Given the description of an element on the screen output the (x, y) to click on. 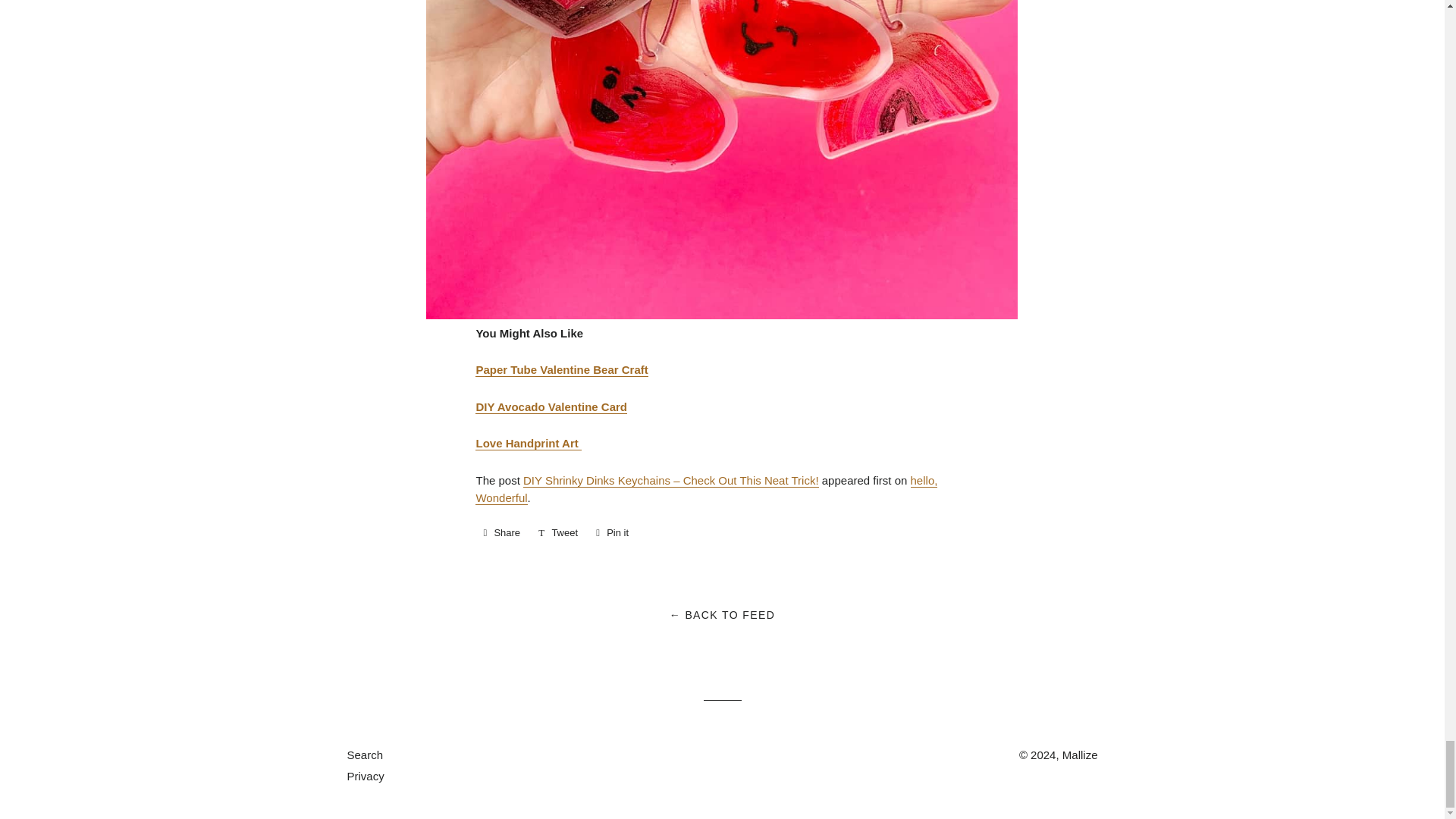
Tweet on Twitter (558, 532)
Pin on Pinterest (612, 532)
Share on Facebook (501, 532)
